Given the description of an element on the screen output the (x, y) to click on. 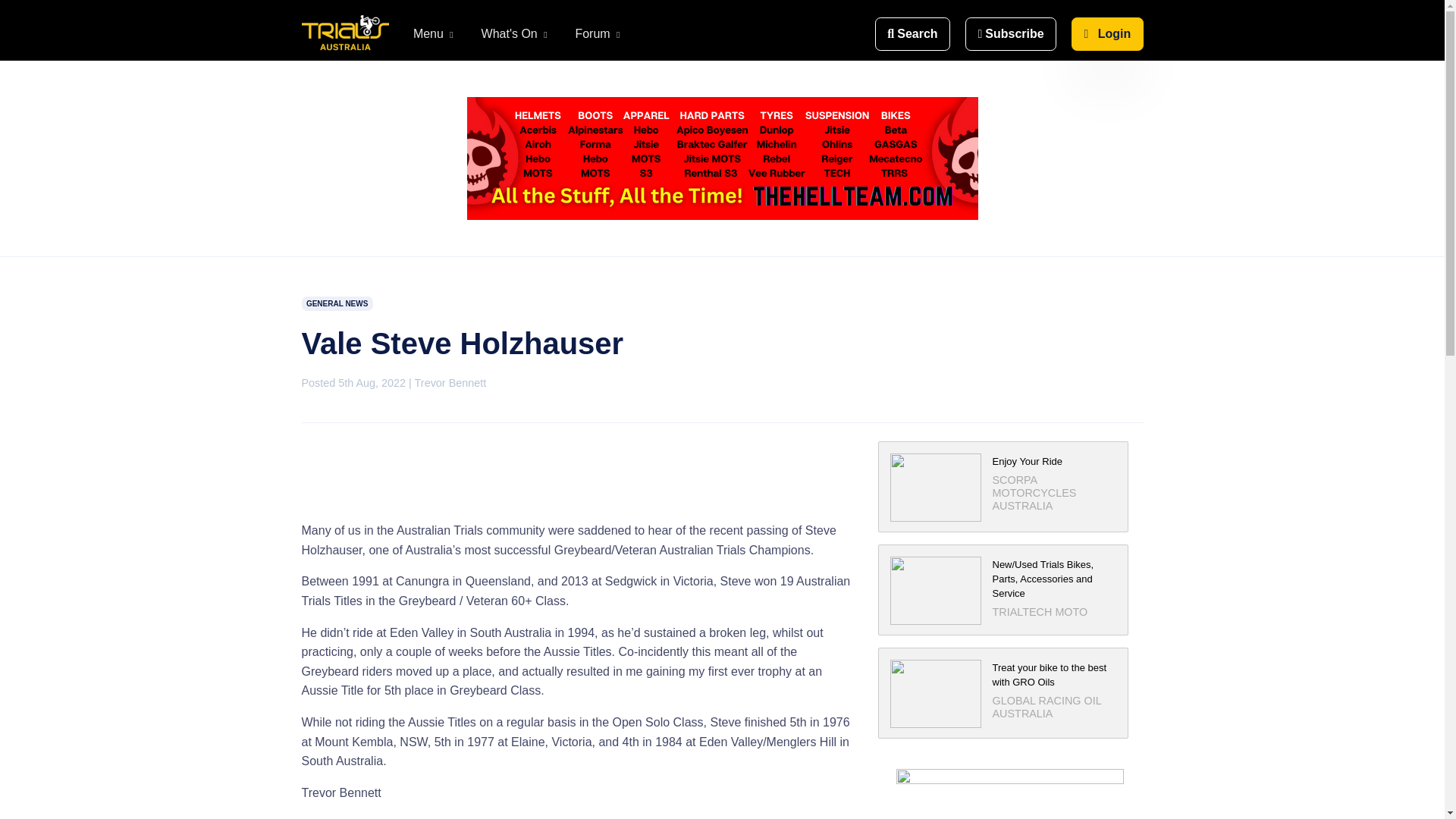
What's On (515, 34)
Forum (598, 34)
Menu (434, 34)
